Given the description of an element on the screen output the (x, y) to click on. 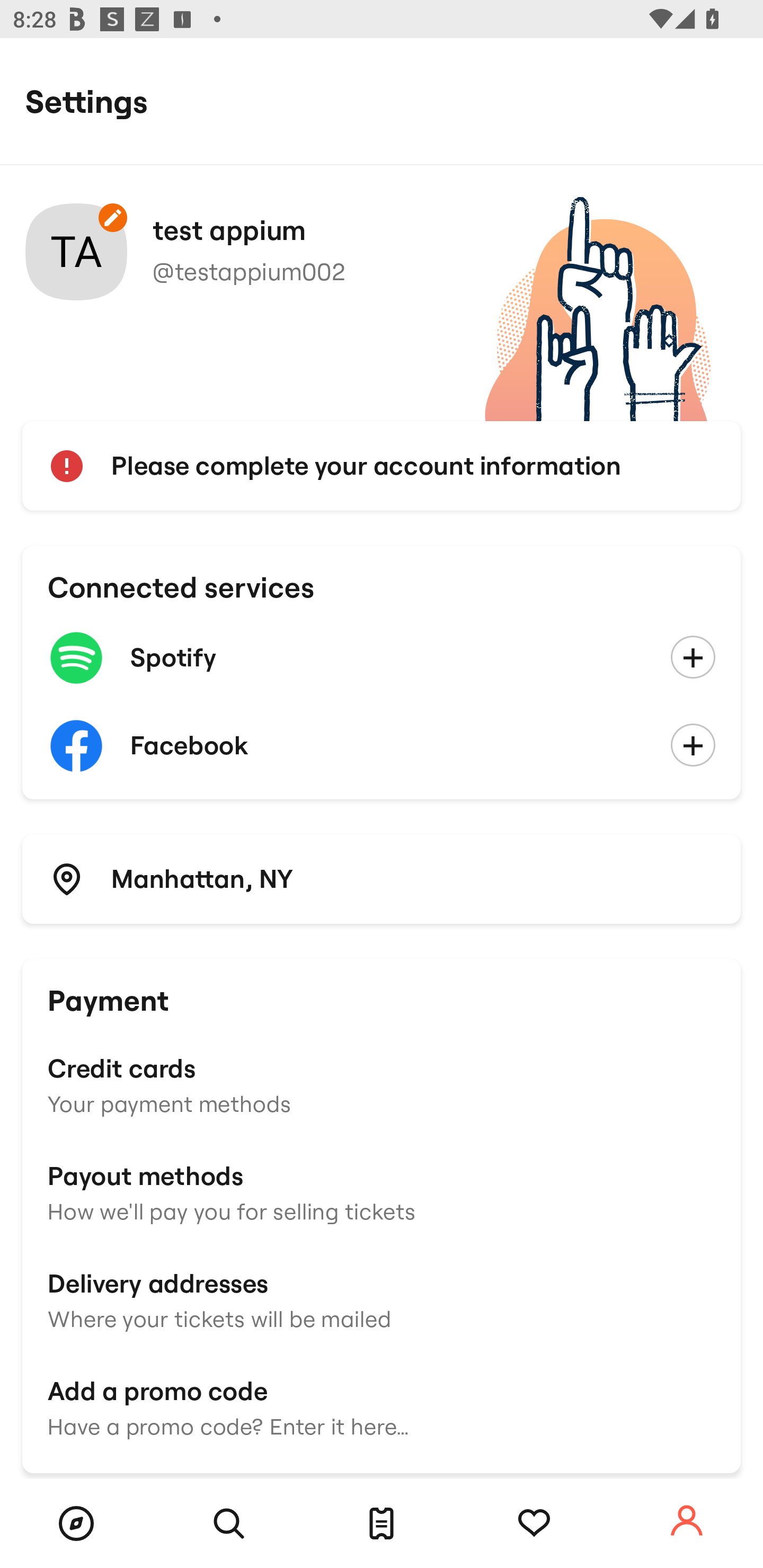
Your account photo (76, 252)
Please complete your account information (381, 466)
Spotify (381, 658)
Facebook (381, 746)
Manhattan, NY (381, 878)
Credit cards Your payment methods (381, 1084)
Add a promo code Have a promo code? Enter it here… (381, 1406)
Browse (76, 1523)
Search (228, 1523)
Tickets (381, 1523)
Tracking (533, 1523)
Account (686, 1521)
